Given the description of an element on the screen output the (x, y) to click on. 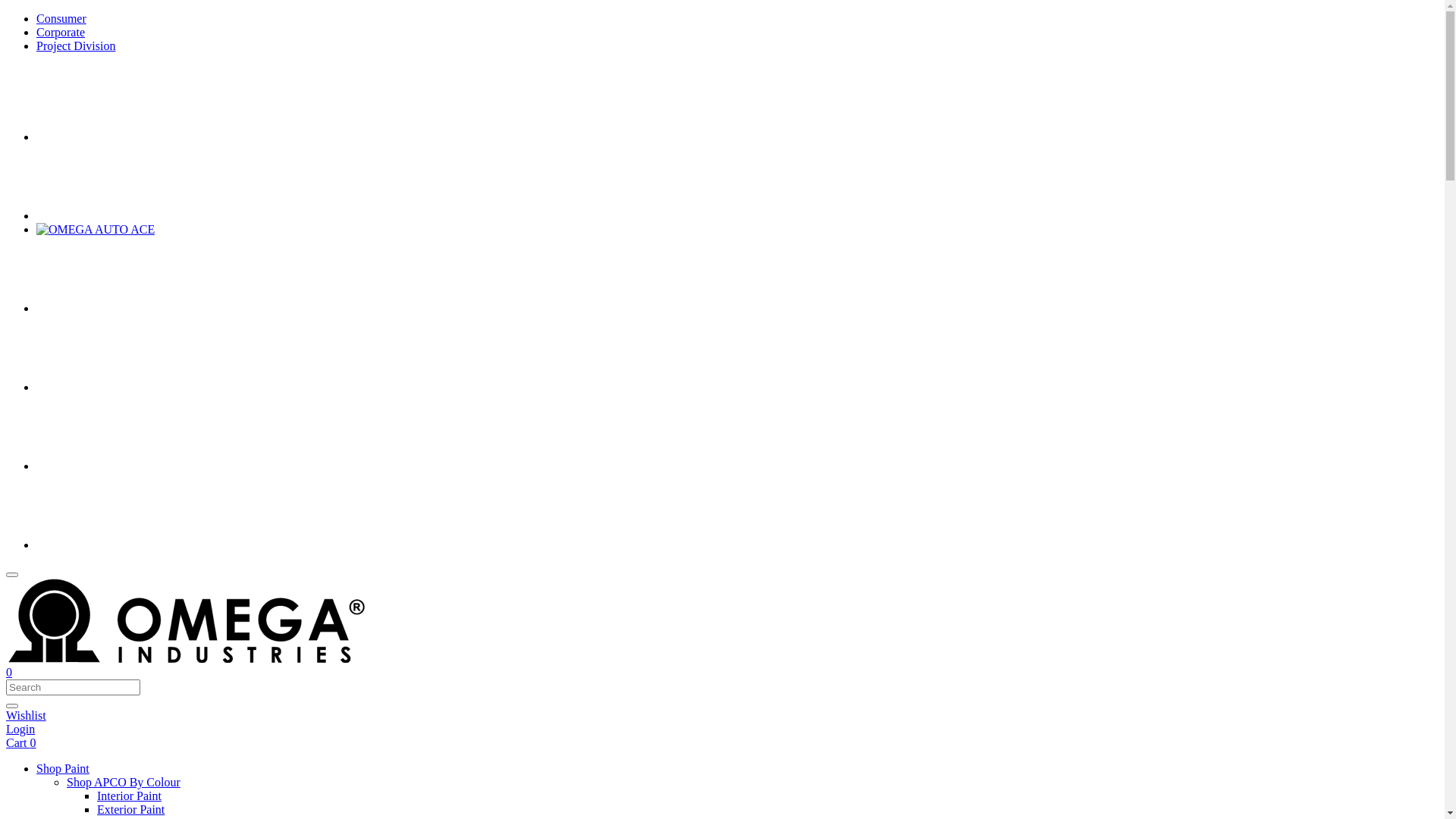
Project Division Element type: text (75, 45)
APCO Element type: hover (123, 136)
Consumer Element type: text (61, 18)
Exterior Paint Element type: text (130, 809)
Cart 0 Element type: text (722, 742)
0 Element type: text (722, 672)
Login Element type: text (722, 728)
Omega Paints Element type: hover (123, 215)
Rustblock Element type: hover (123, 307)
Shop Paint Element type: text (737, 768)
Poolkote Element type: hover (123, 386)
Corporate Element type: text (60, 31)
Auto Ace Element type: hover (95, 228)
Hydrotech Element type: hover (123, 544)
Quickline Element type: hover (123, 465)
Interior Paint Element type: text (129, 795)
Wishlist Element type: text (722, 715)
Shop APCO By Colour Element type: text (752, 782)
